Given the description of an element on the screen output the (x, y) to click on. 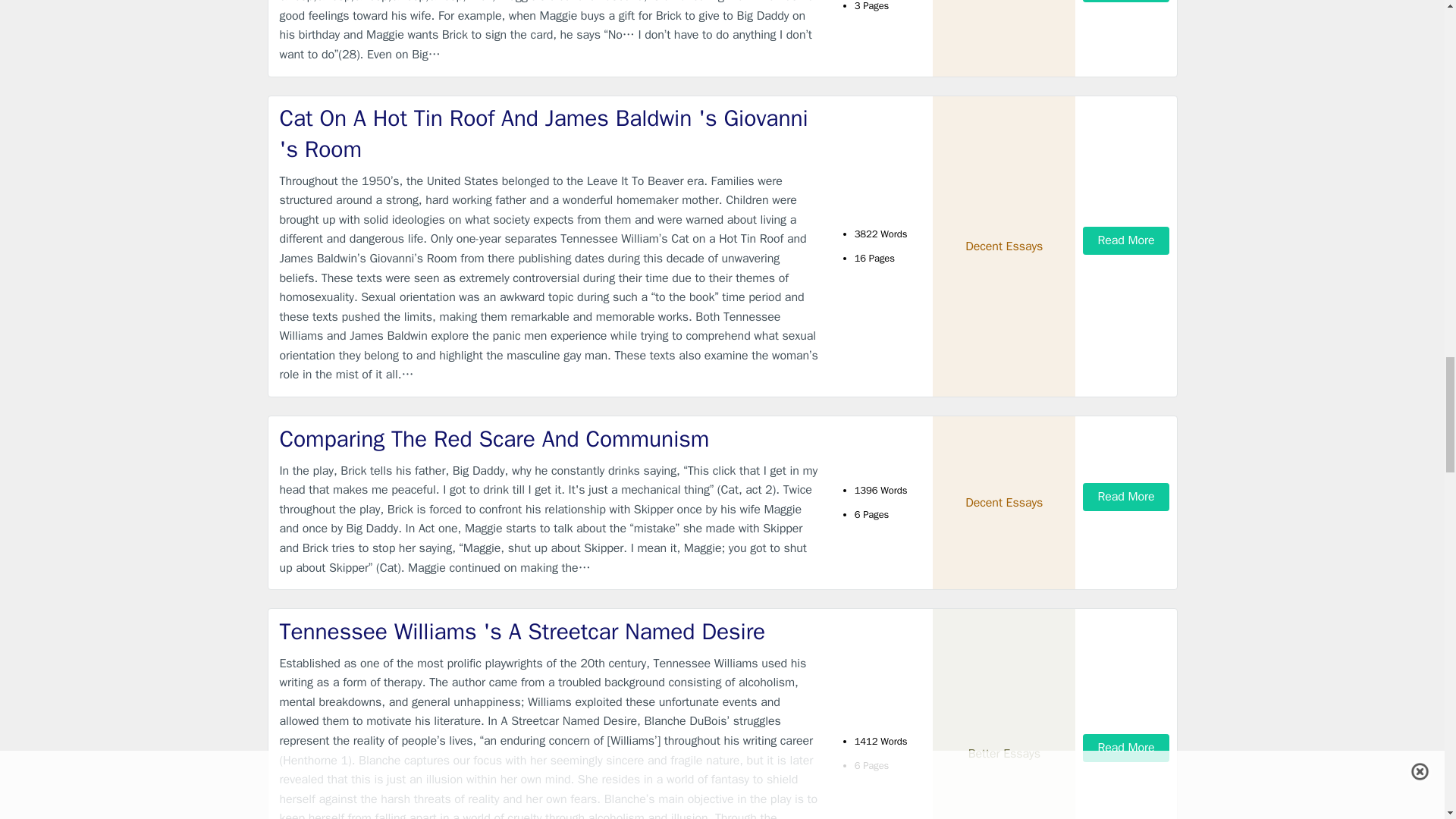
Cat On A Hot Tin Roof And James Baldwin 's Giovanni 's Room (548, 133)
Read More (1126, 1)
Read More (1126, 240)
Comparing The Red Scare And Communism (548, 439)
